Given the description of an element on the screen output the (x, y) to click on. 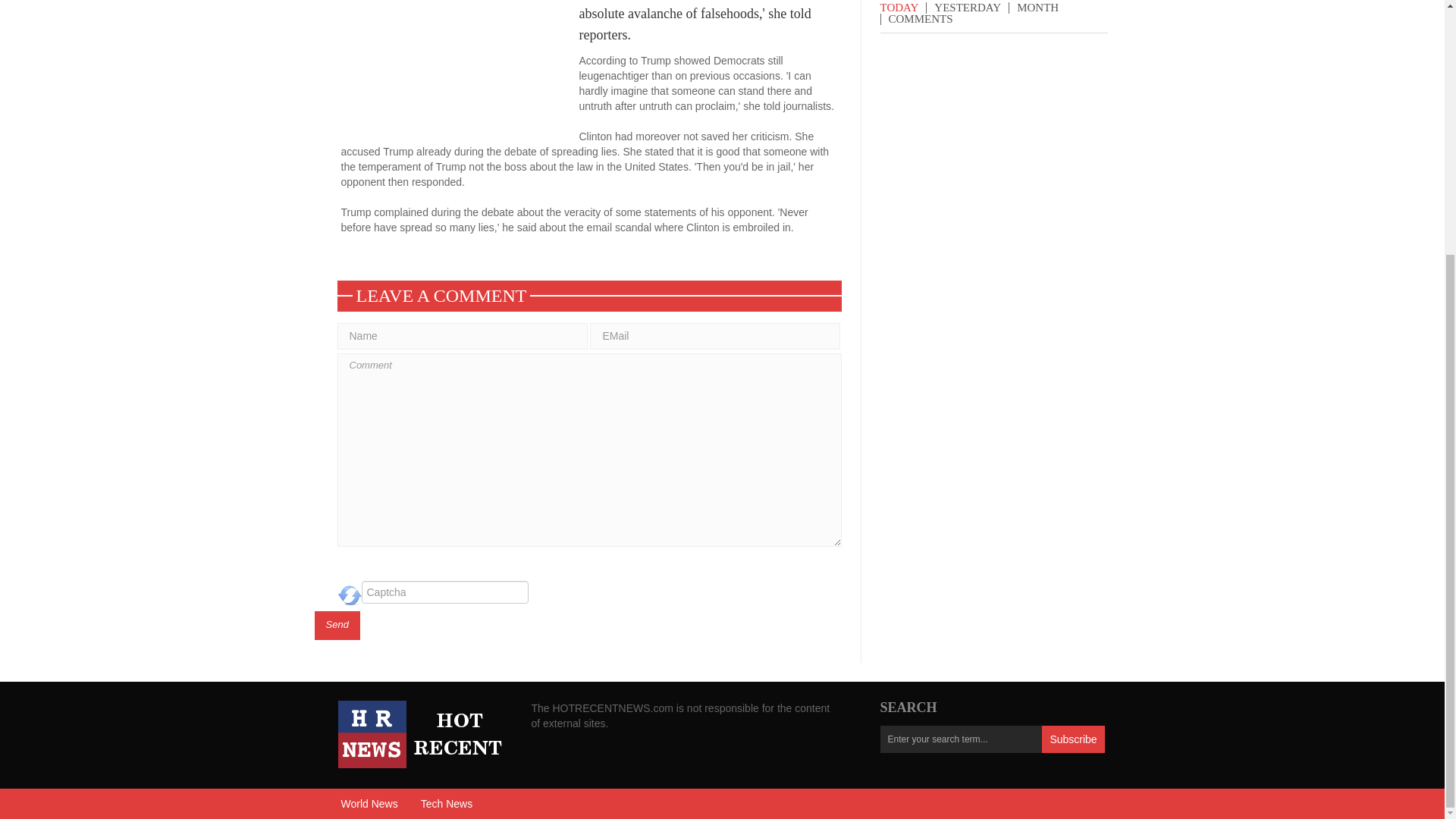
Subscribe (1072, 738)
Send (336, 624)
Send (336, 624)
Enter your search term... (960, 738)
